Given the description of an element on the screen output the (x, y) to click on. 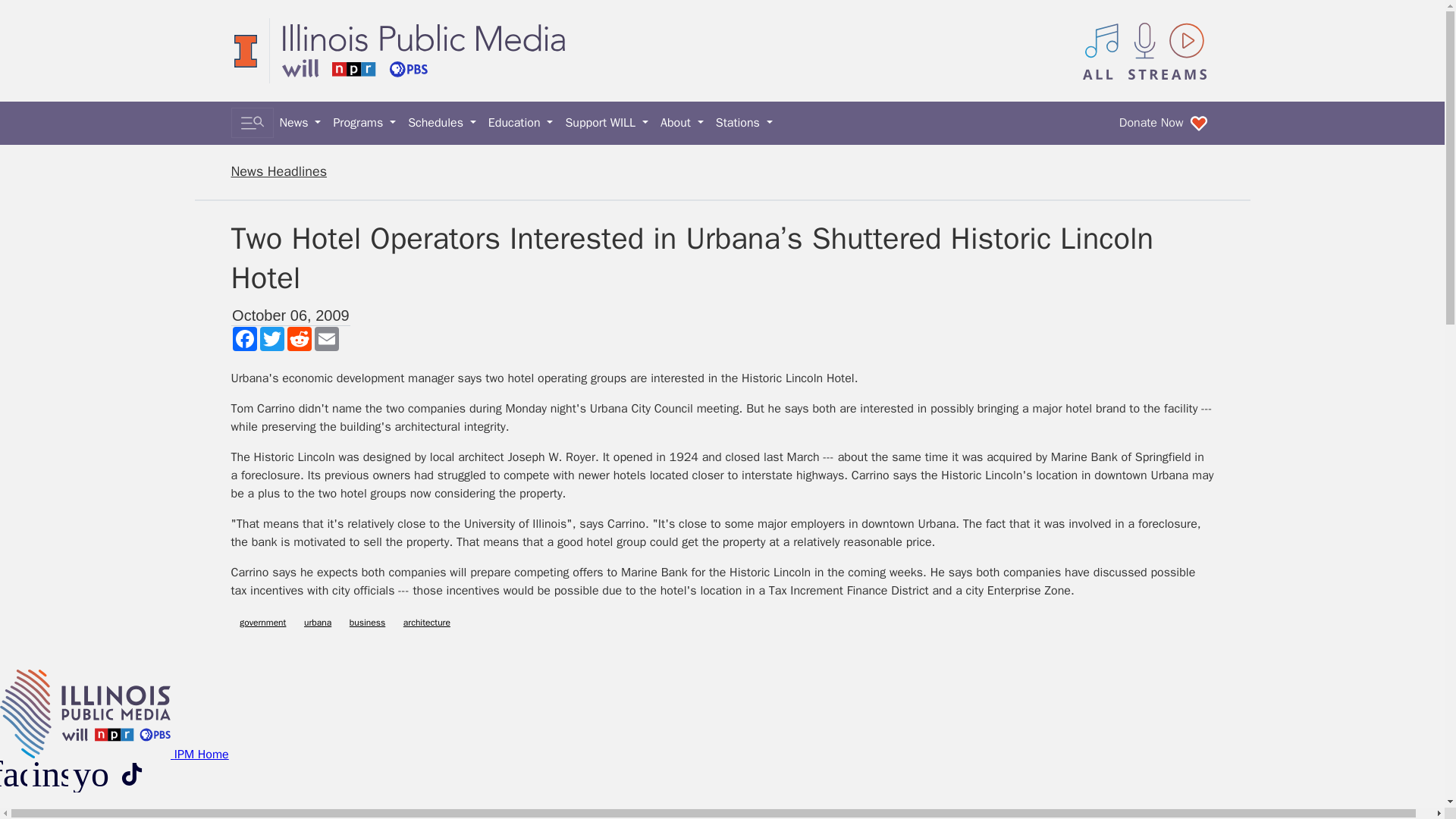
Toggle search (251, 122)
Programs (363, 122)
All IPM content streams (1144, 50)
News (299, 122)
Schedules (441, 122)
